Given the description of an element on the screen output the (x, y) to click on. 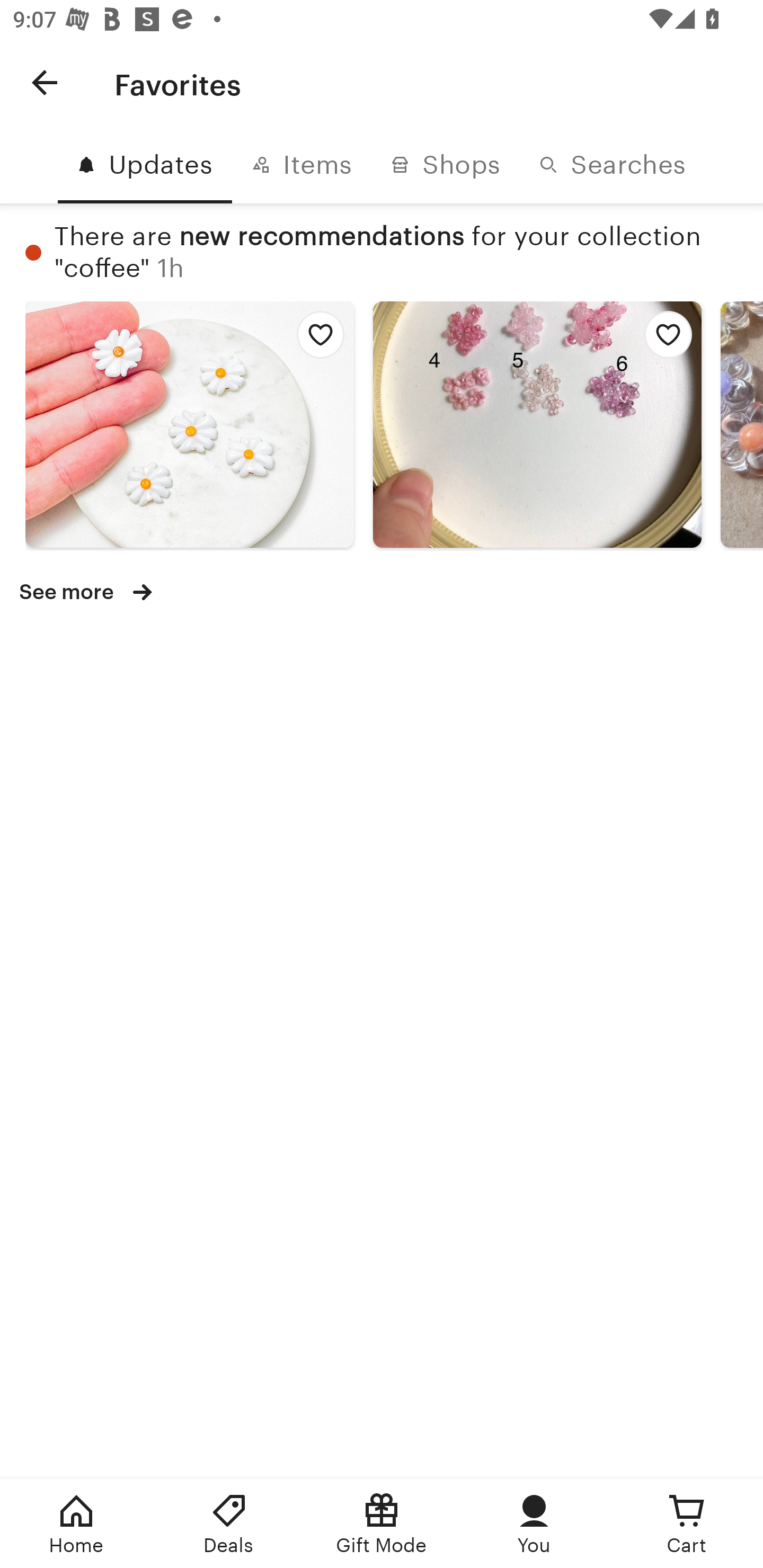
Navigate up (44, 82)
Items, tab 2 of 4 Items (301, 165)
Shops, tab 3 of 4 Shops (445, 165)
Searches, tab 4 of 4 Searches (612, 165)
See more (90, 591)
Home (76, 1523)
Deals (228, 1523)
Gift Mode (381, 1523)
Cart (686, 1523)
